Given the description of an element on the screen output the (x, y) to click on. 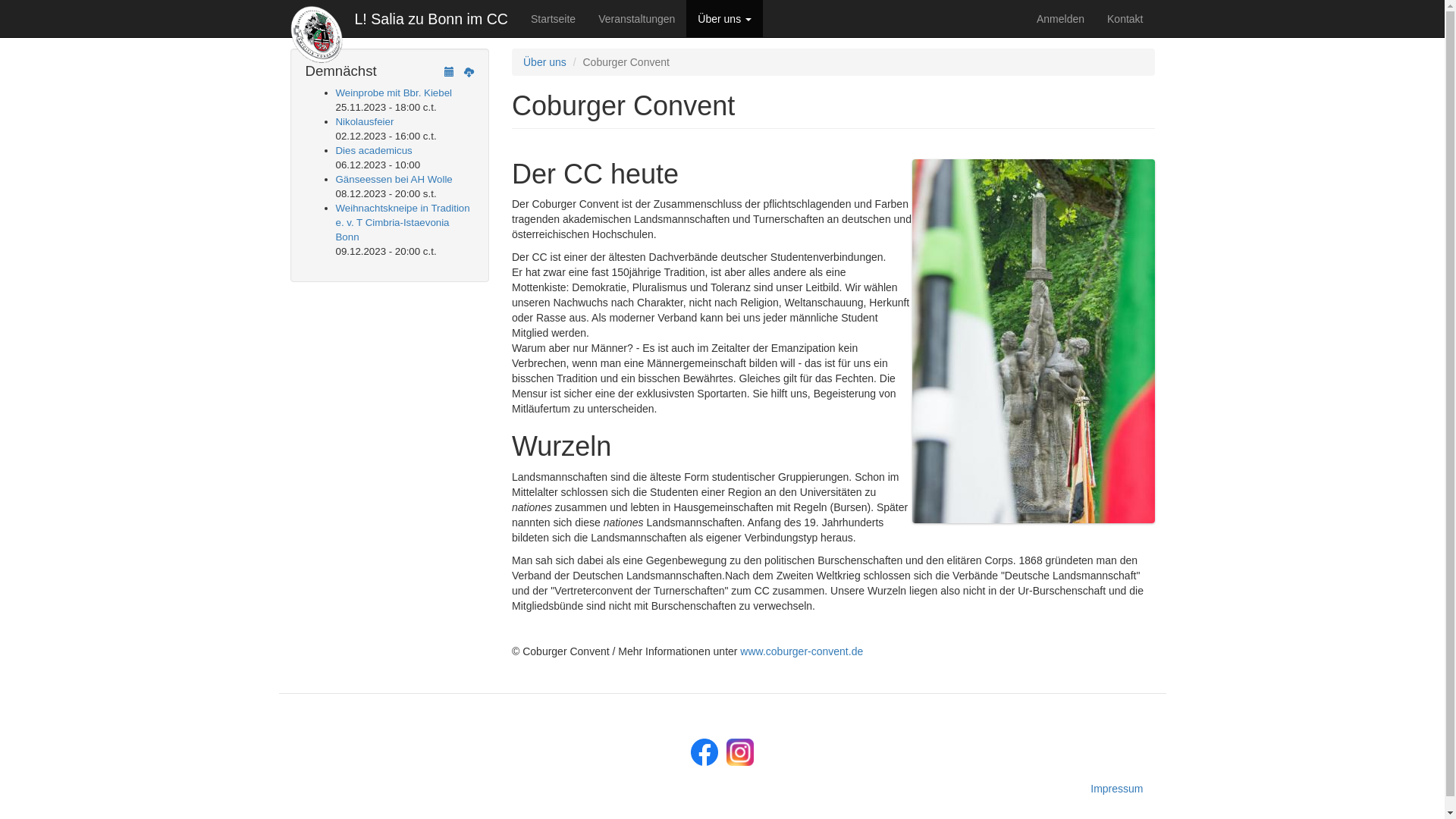
Startseite Element type: text (552, 18)
L! Salia zu Bonn im CC Element type: text (430, 18)
Weinprobe mit Bbr. Kiebel Element type: text (393, 92)
Anmelden Element type: text (1060, 18)
Dies academicus Element type: text (373, 150)
Startseite Element type: hover (321, 34)
Impressum Element type: text (721, 788)
Nikolausfeier Element type: text (364, 121)
Direkt zum Inhalt Element type: text (0, 48)
Veranstaltungen Element type: text (636, 18)
www.coburger-convent.de Element type: text (801, 651)
Kontakt Element type: text (1124, 18)
